Given the description of an element on the screen output the (x, y) to click on. 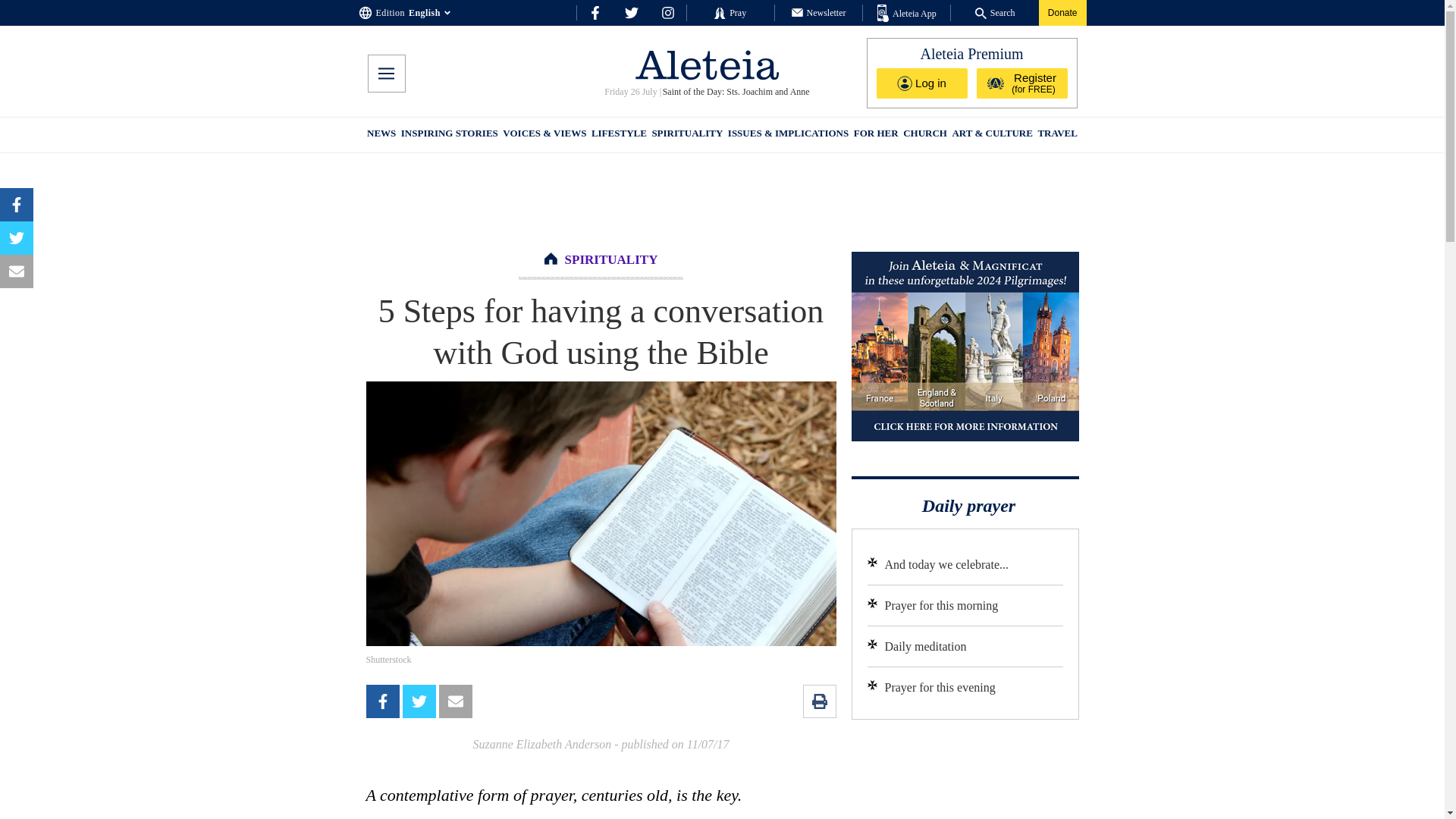
CHURCH (924, 134)
logo-header (706, 64)
Newsletter (818, 12)
Suzanne Elizabeth Anderson (541, 744)
FOR HER (875, 134)
SPIRITUALITY (686, 134)
Saint of the Day: Sts. Joachim and Anne (735, 91)
TRAVEL (1056, 134)
Log in (922, 82)
social-tw-top-row (631, 12)
Aleteia App (906, 13)
social-ig-top-row (668, 12)
Pray (729, 12)
LIFESTYLE (618, 134)
Search (994, 12)
